Given the description of an element on the screen output the (x, y) to click on. 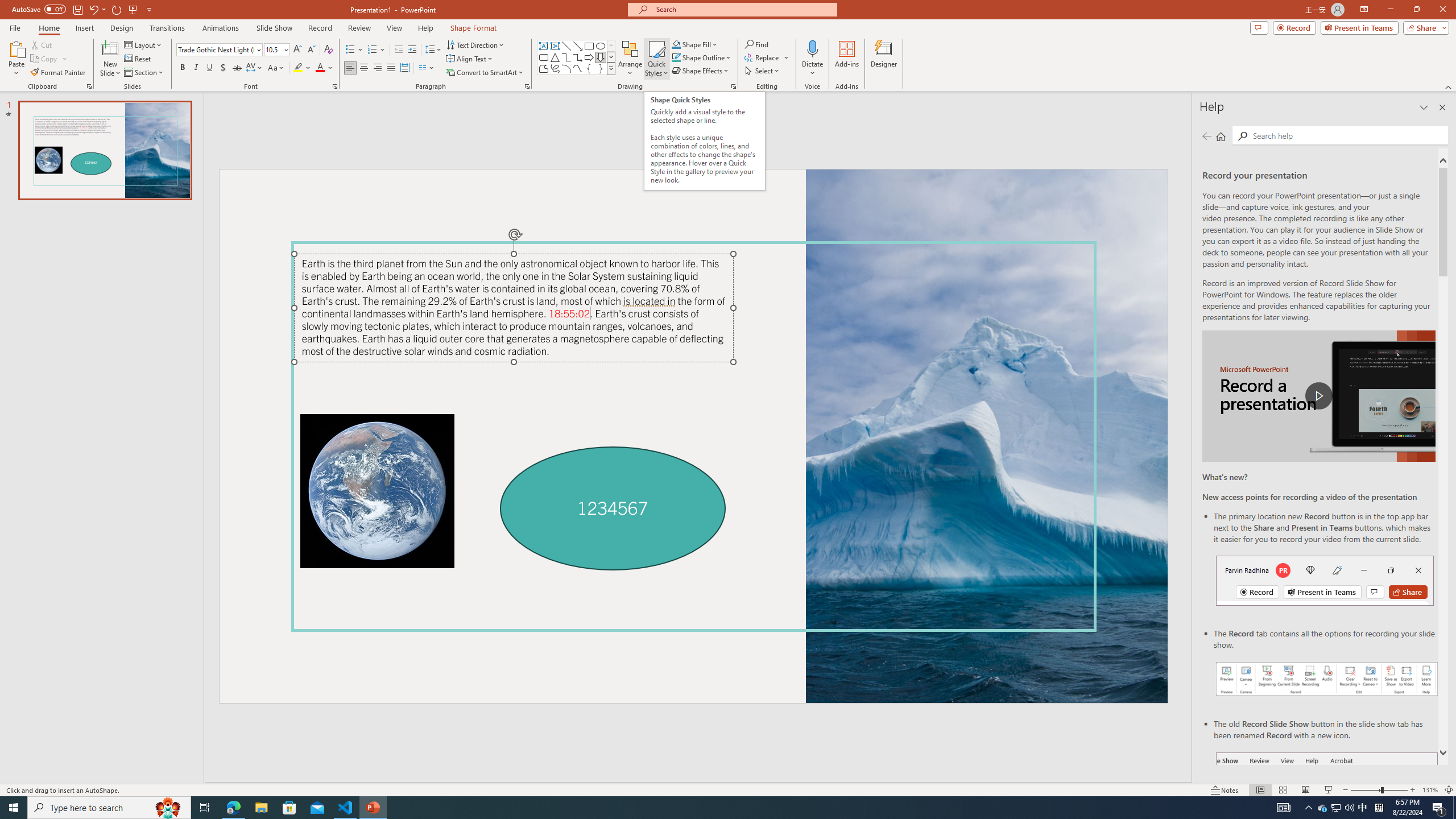
Distributed (404, 67)
Shape Outline Teal, Accent 1 (675, 56)
Arc (566, 68)
Rectangle: Rounded Corners (543, 57)
Columns (426, 67)
Connector: Elbow Arrow (577, 57)
Clear Formatting (327, 49)
play Record a Presentation (1318, 395)
